Given the description of an element on the screen output the (x, y) to click on. 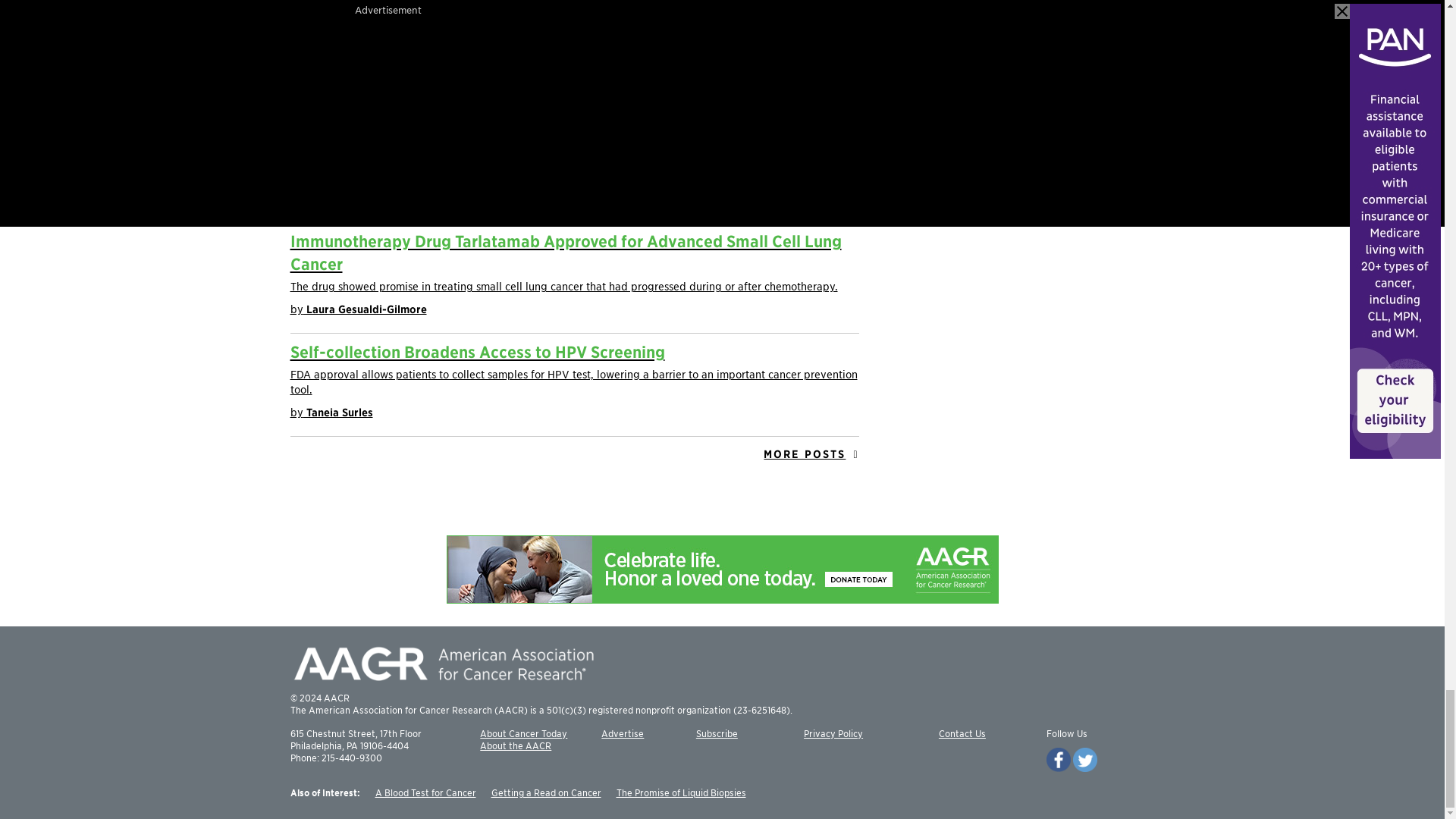
Twitter (1085, 759)
Home (440, 662)
Facebook (1058, 759)
